Given the description of an element on the screen output the (x, y) to click on. 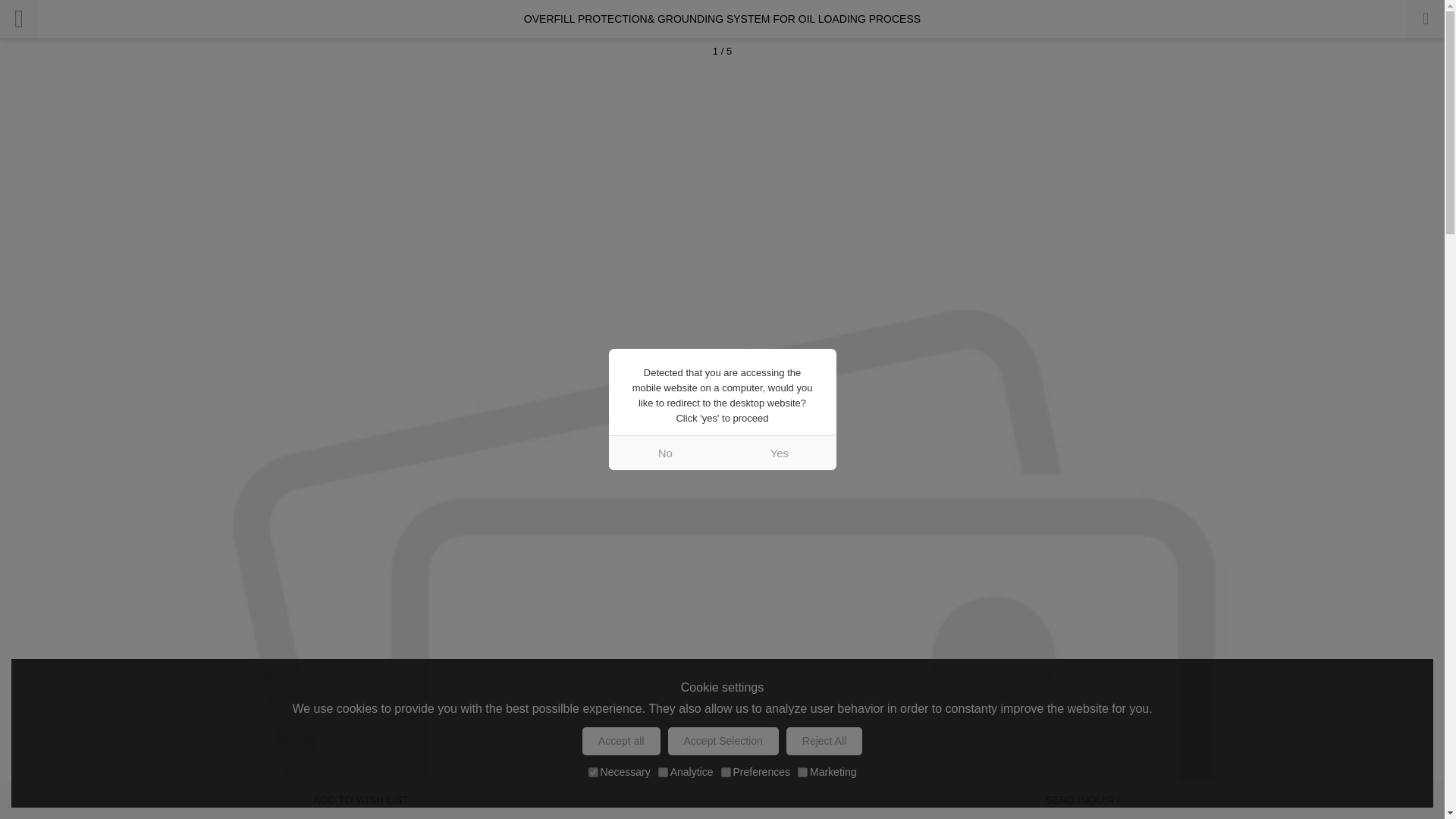
on (663, 772)
ADD TO WISH LIST (361, 800)
on (593, 772)
Accept Selection (723, 741)
on (725, 772)
Yes (778, 452)
No (665, 452)
Reject All (823, 741)
on (802, 772)
Accept all (621, 741)
